Given the description of an element on the screen output the (x, y) to click on. 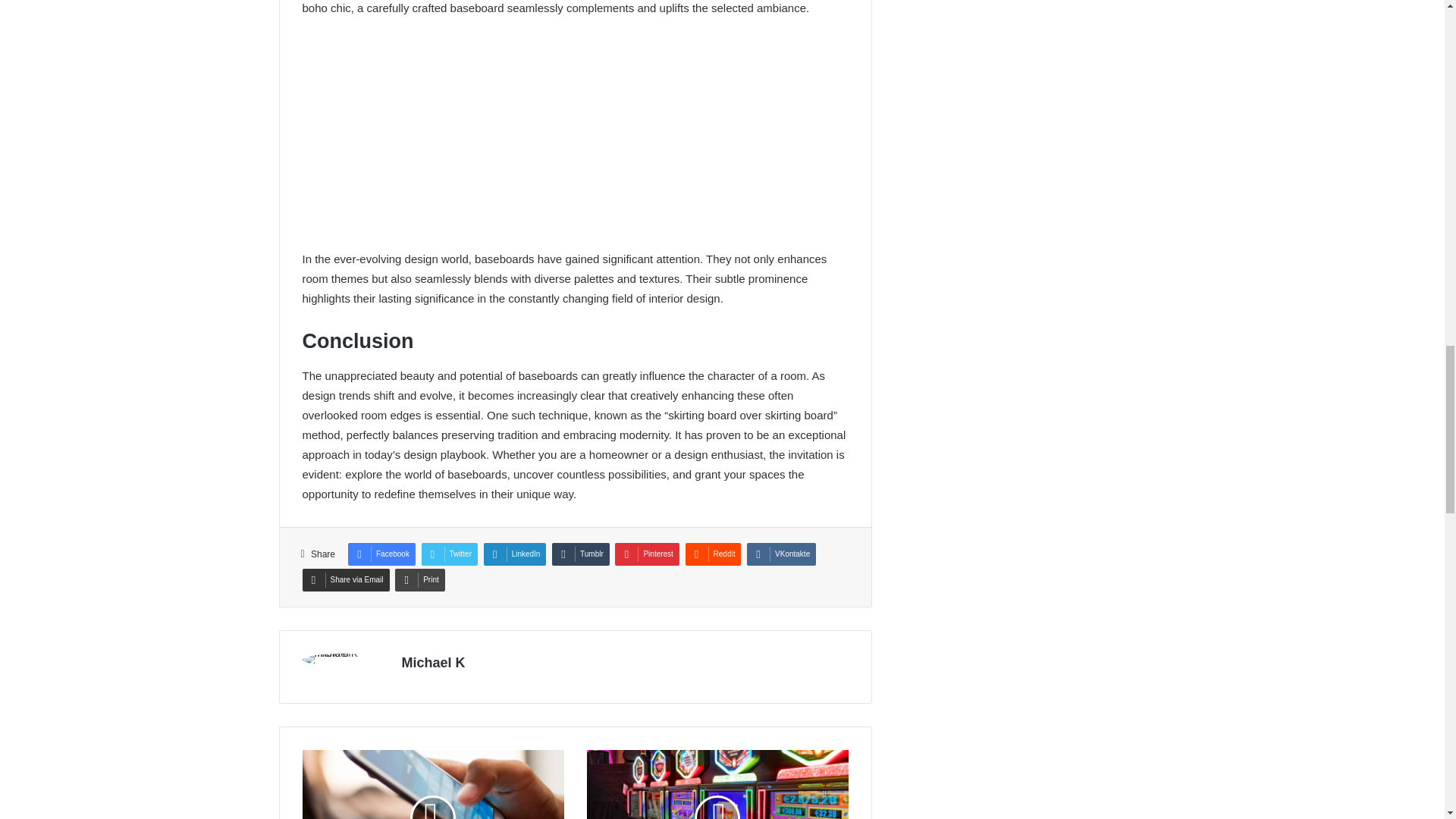
Advertisement (574, 142)
